Given the description of an element on the screen output the (x, y) to click on. 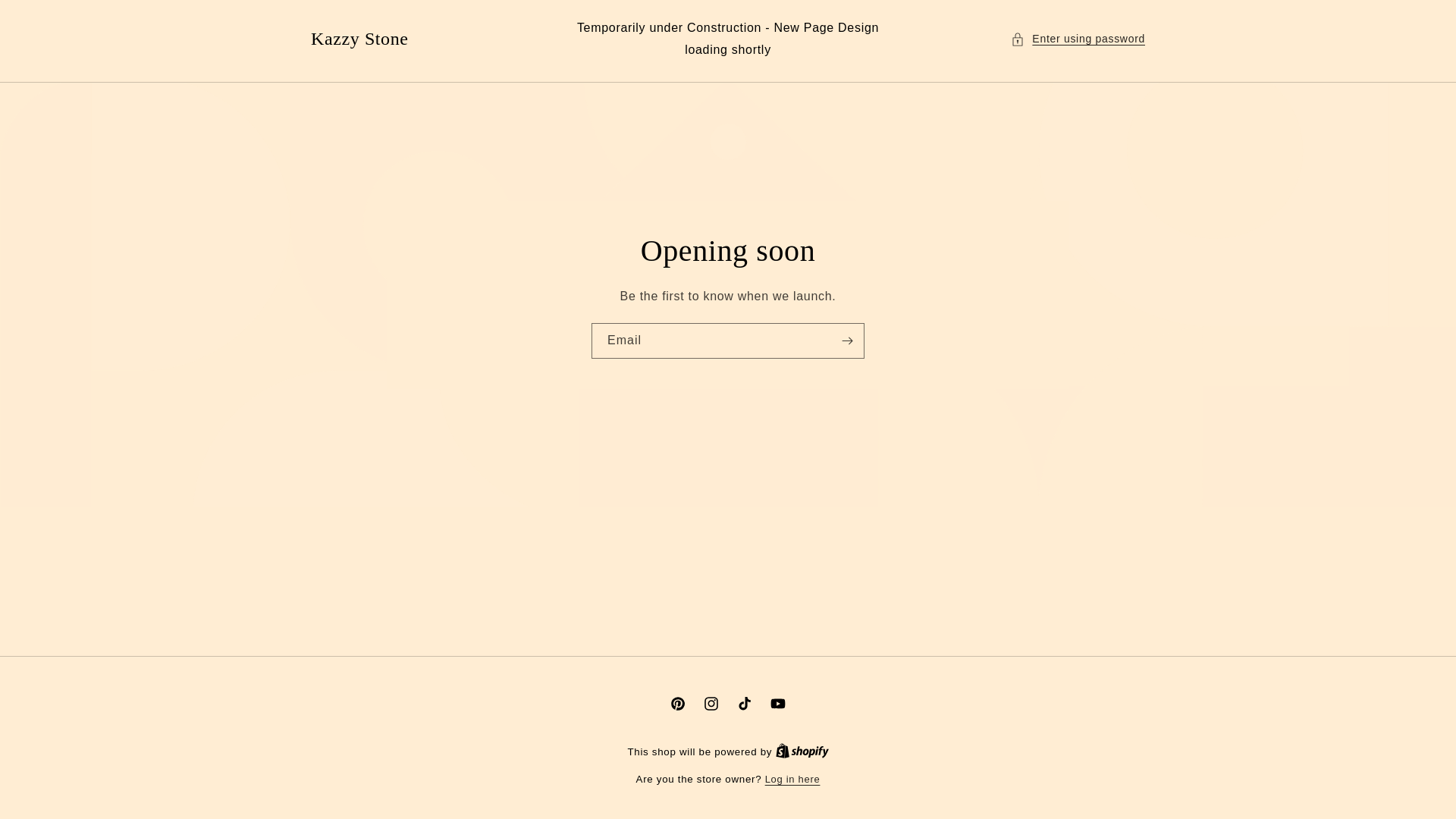
Instagram (711, 703)
Log in here (793, 779)
TikTok (744, 703)
YouTube (777, 703)
Skip to content (45, 17)
Pinterest (677, 703)
